Given the description of an element on the screen output the (x, y) to click on. 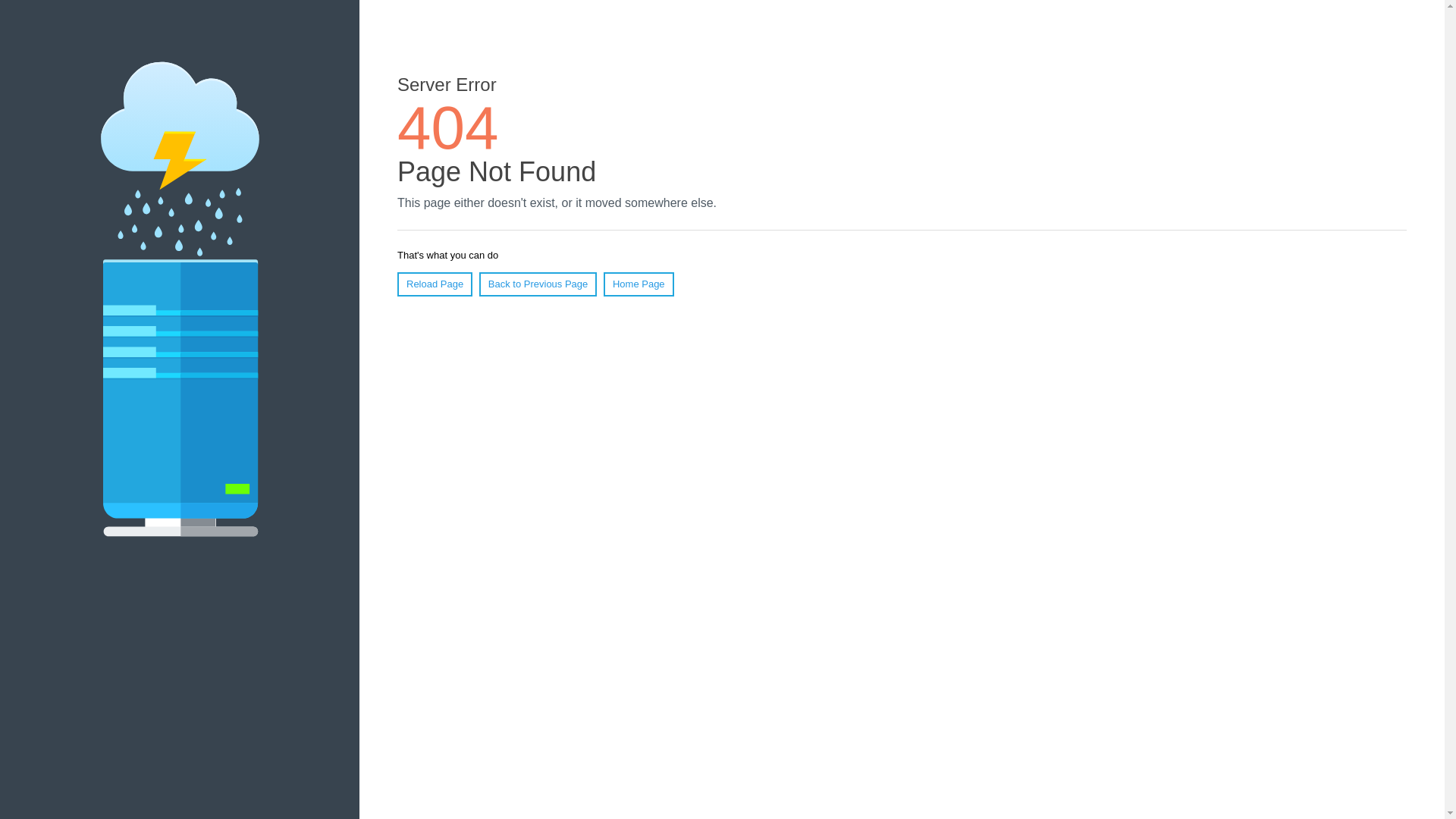
Back to Previous Page Element type: text (538, 284)
Reload Page Element type: text (434, 284)
Home Page Element type: text (638, 284)
